Given the description of an element on the screen output the (x, y) to click on. 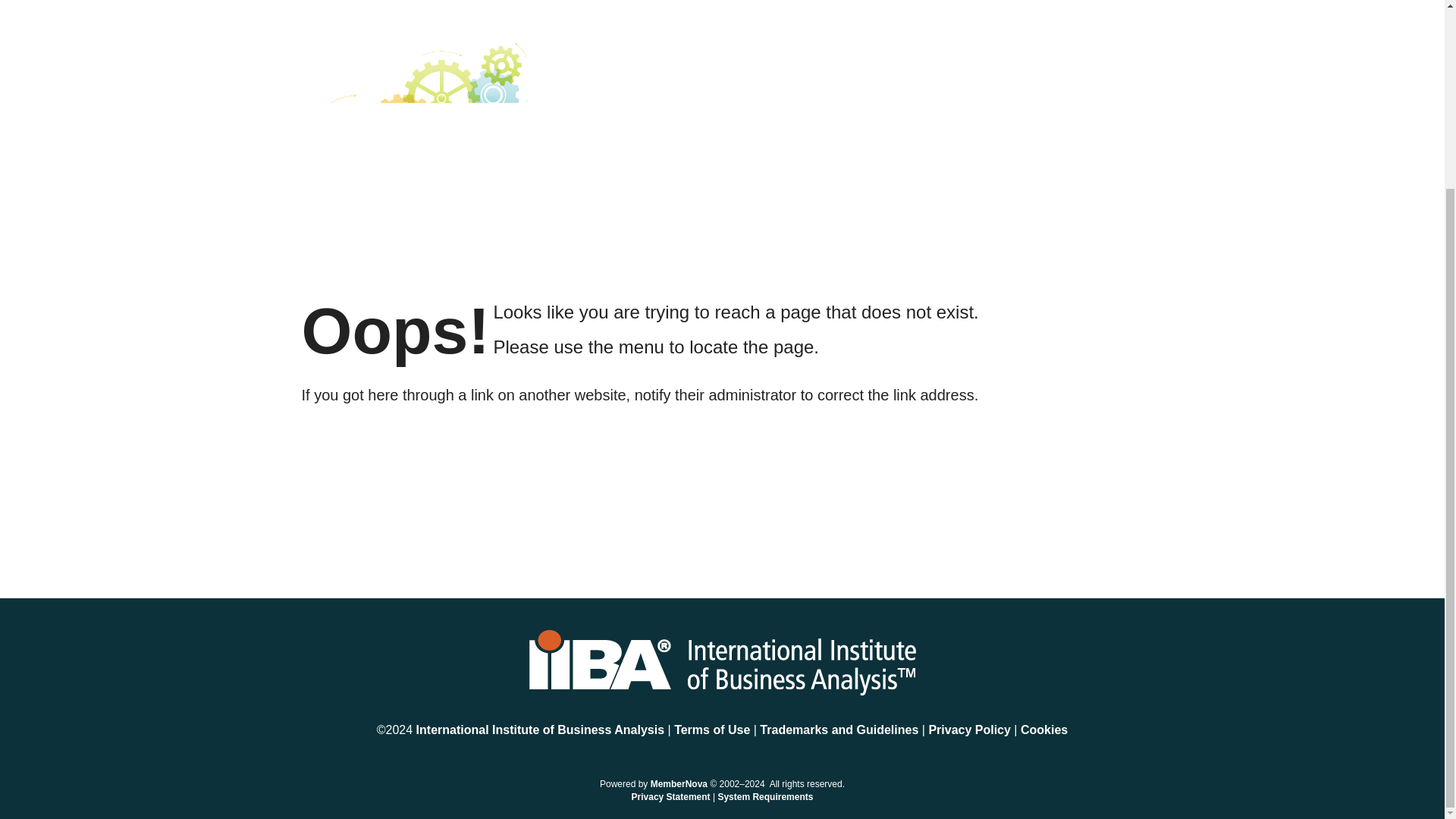
International Institute of Business Analysis (539, 729)
Trademarks and Guidelines  (840, 729)
MemberNova (678, 783)
Privacy Statement (670, 796)
System Requirements (764, 796)
Terms of Use  (714, 729)
Cookies (1043, 729)
Privacy Policy  (970, 729)
